Given the description of an element on the screen output the (x, y) to click on. 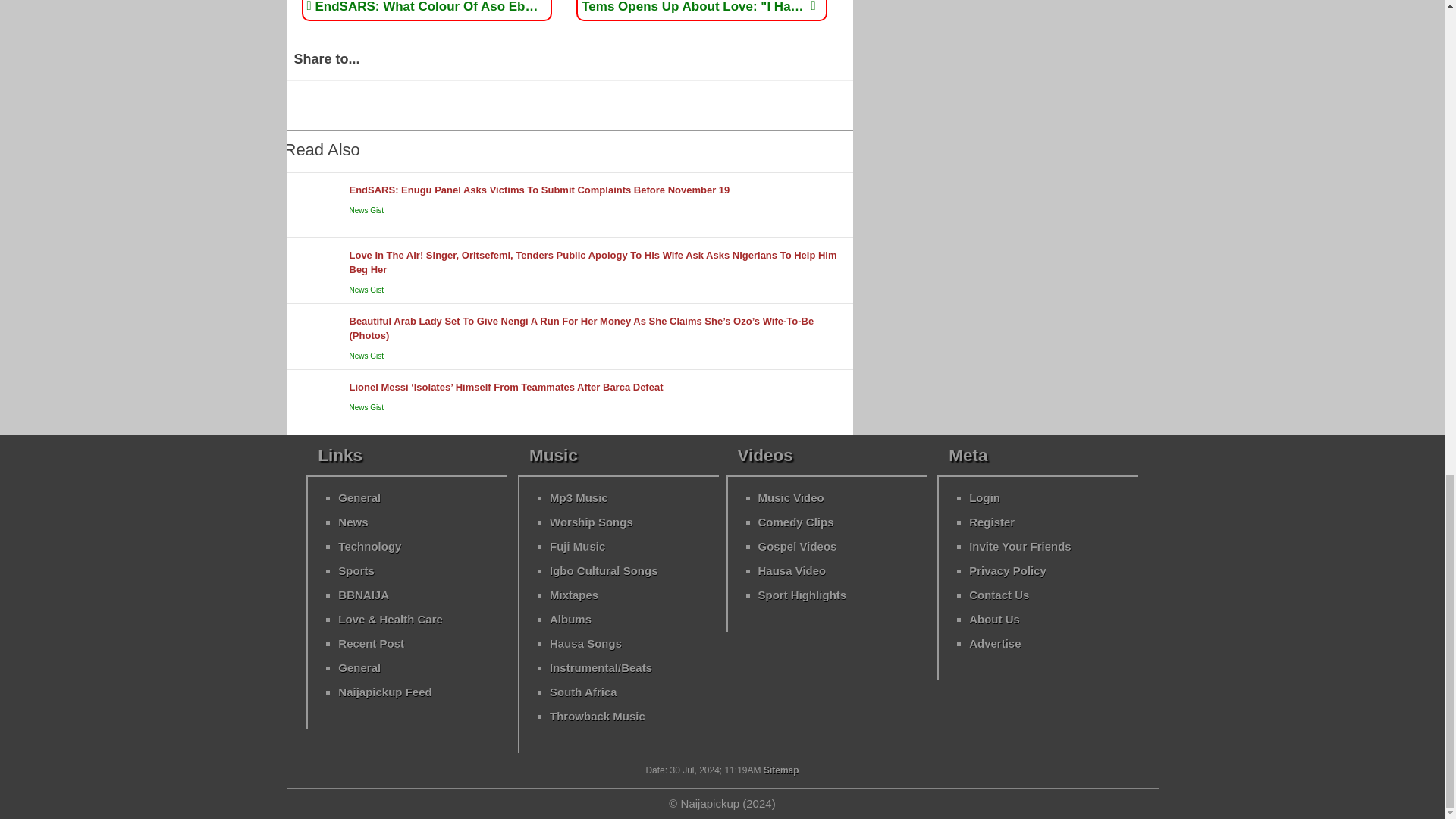
Tems Opens Up About Love: "I Haven (697, 6)
Tems Opens Up About Love: "I Haven't Been in Love" (697, 6)
Mp3 Music (579, 497)
